Given the description of an element on the screen output the (x, y) to click on. 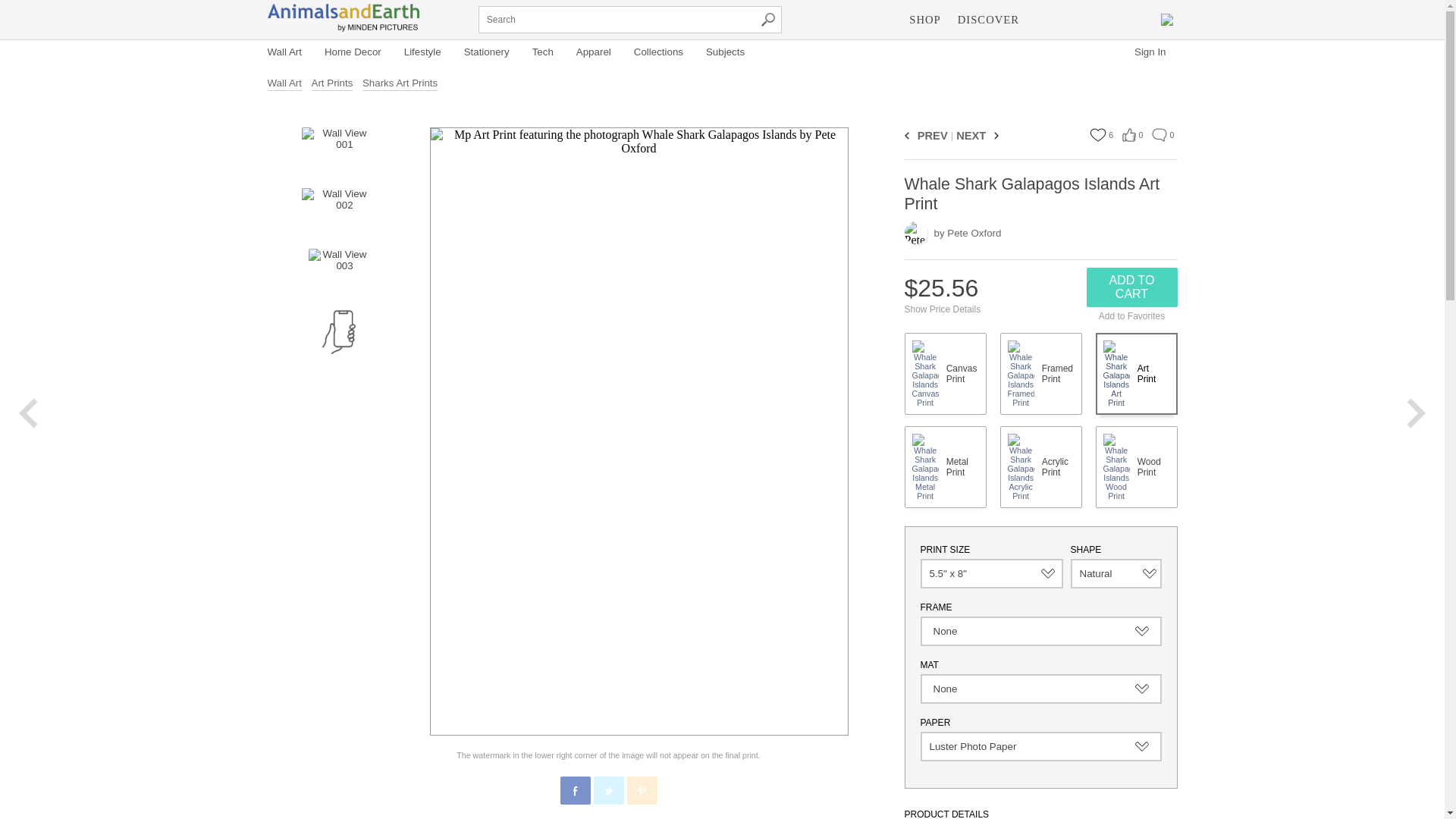
Share Product on Facebook (574, 789)
Favorite (1097, 134)
Share Product on Twitter (607, 789)
Wall View 003 (337, 271)
Launch Mobile App (338, 331)
DISCOVER (988, 19)
Wall View 001 (337, 149)
SHOP (924, 19)
Facebook (575, 790)
Pinterest (642, 790)
